Given the description of an element on the screen output the (x, y) to click on. 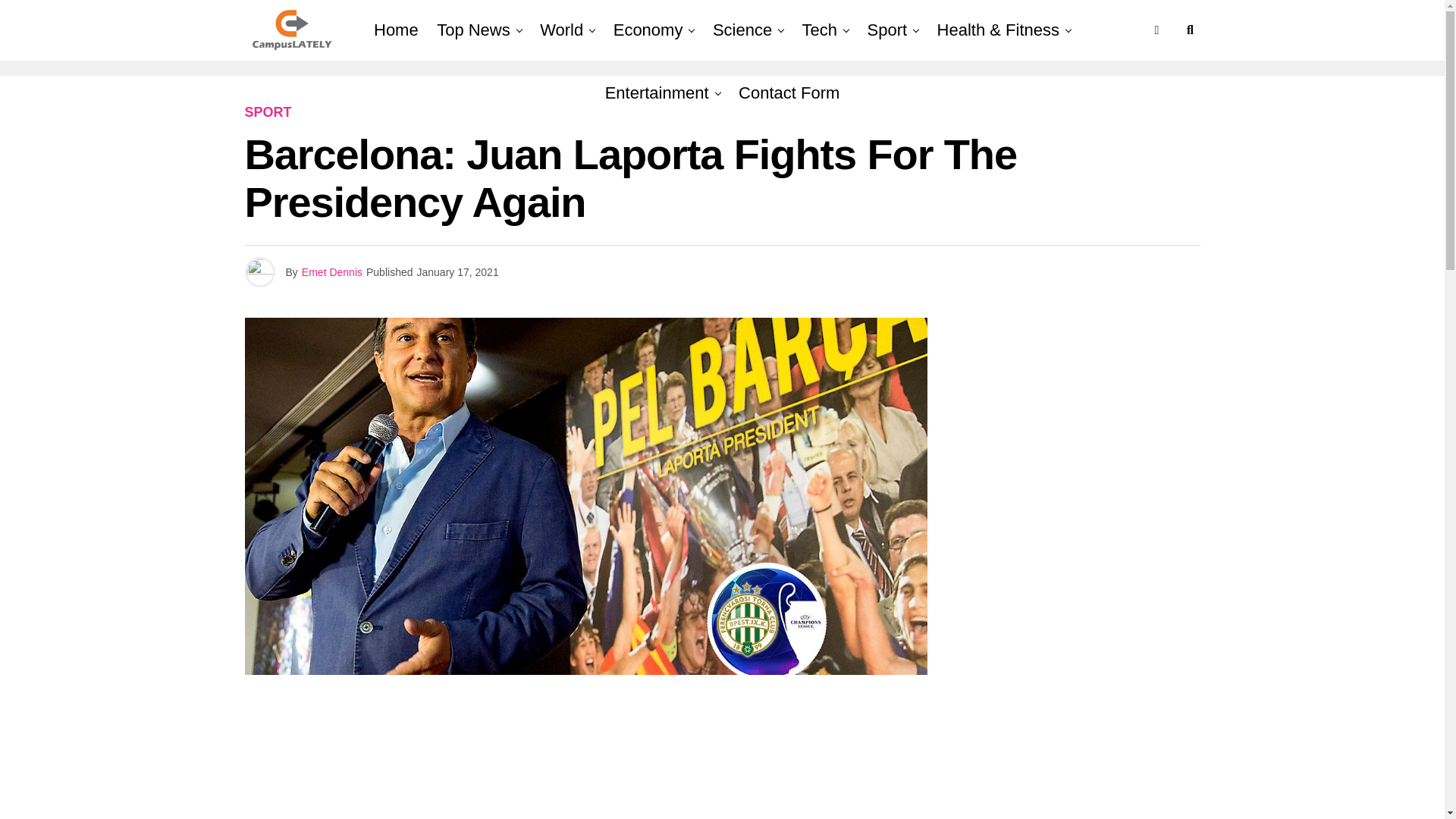
Science (741, 30)
Home (396, 30)
Top News (473, 30)
Economy (647, 30)
World (561, 30)
Sport (887, 30)
